Given the description of an element on the screen output the (x, y) to click on. 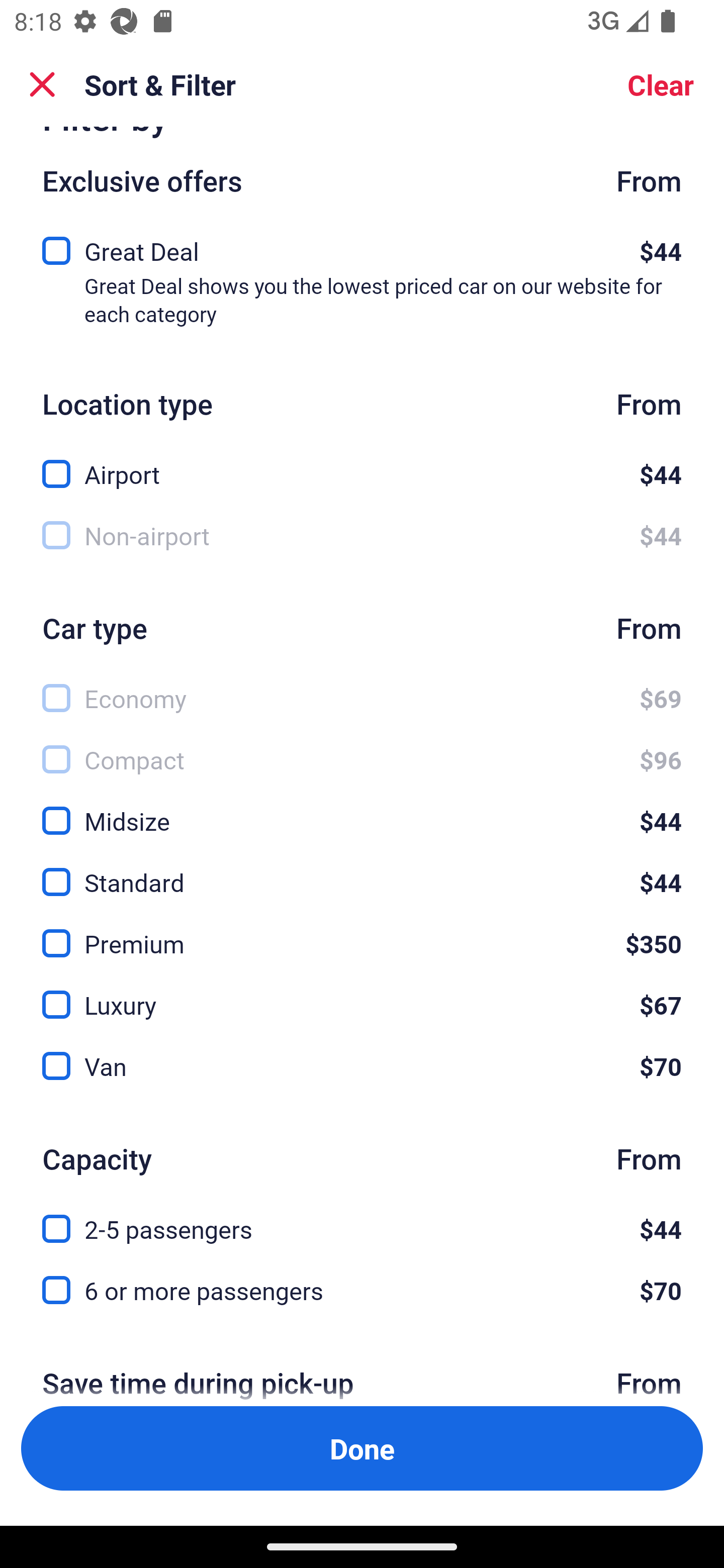
Close Sort and Filter (42, 84)
Clear (660, 84)
Airport, $44 Airport $44 (361, 462)
Non-airport, $44 Non-airport $44 (361, 535)
Economy, $69 Economy $69 (361, 687)
Compact, $96 Compact $96 (361, 748)
Midsize, $44 Midsize $44 (361, 809)
Standard, $44 Standard $44 (361, 870)
Premium, $350 Premium $350 (361, 931)
Luxury, $67 Luxury $67 (361, 992)
Van, $70 Van $70 (361, 1065)
2-5 passengers, $44 2-5 passengers $44 (361, 1217)
6 or more passengers, $70 6 or more passengers $70 (361, 1290)
Apply and close Sort and Filter Done (361, 1448)
